Given the description of an element on the screen output the (x, y) to click on. 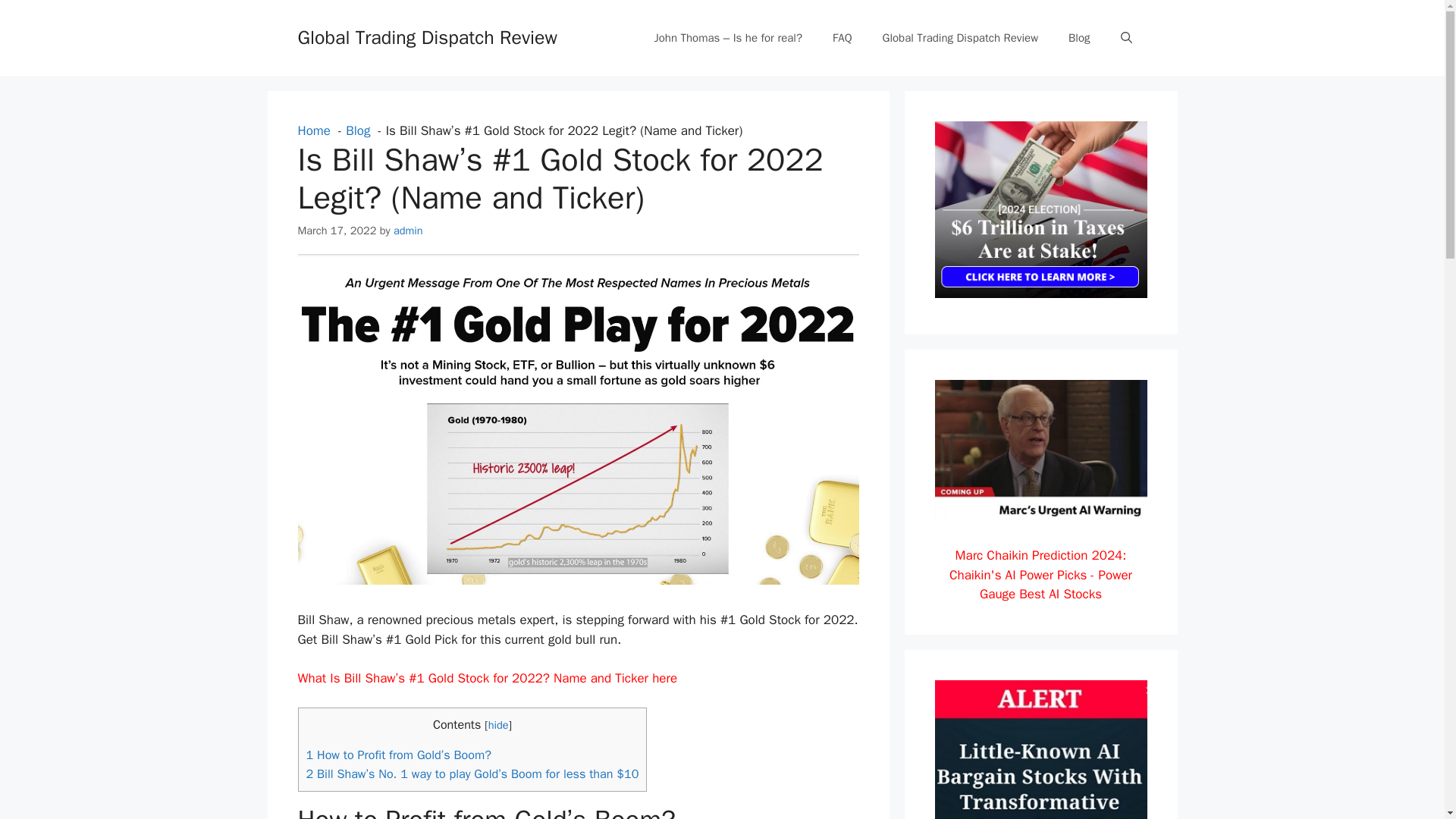
admin (408, 229)
Global Trading Dispatch Review (960, 37)
hide (497, 725)
Global Trading Dispatch Review (426, 37)
Blog (357, 130)
View all posts by admin (408, 229)
FAQ (841, 37)
Blog (1078, 37)
Home (313, 130)
